Given the description of an element on the screen output the (x, y) to click on. 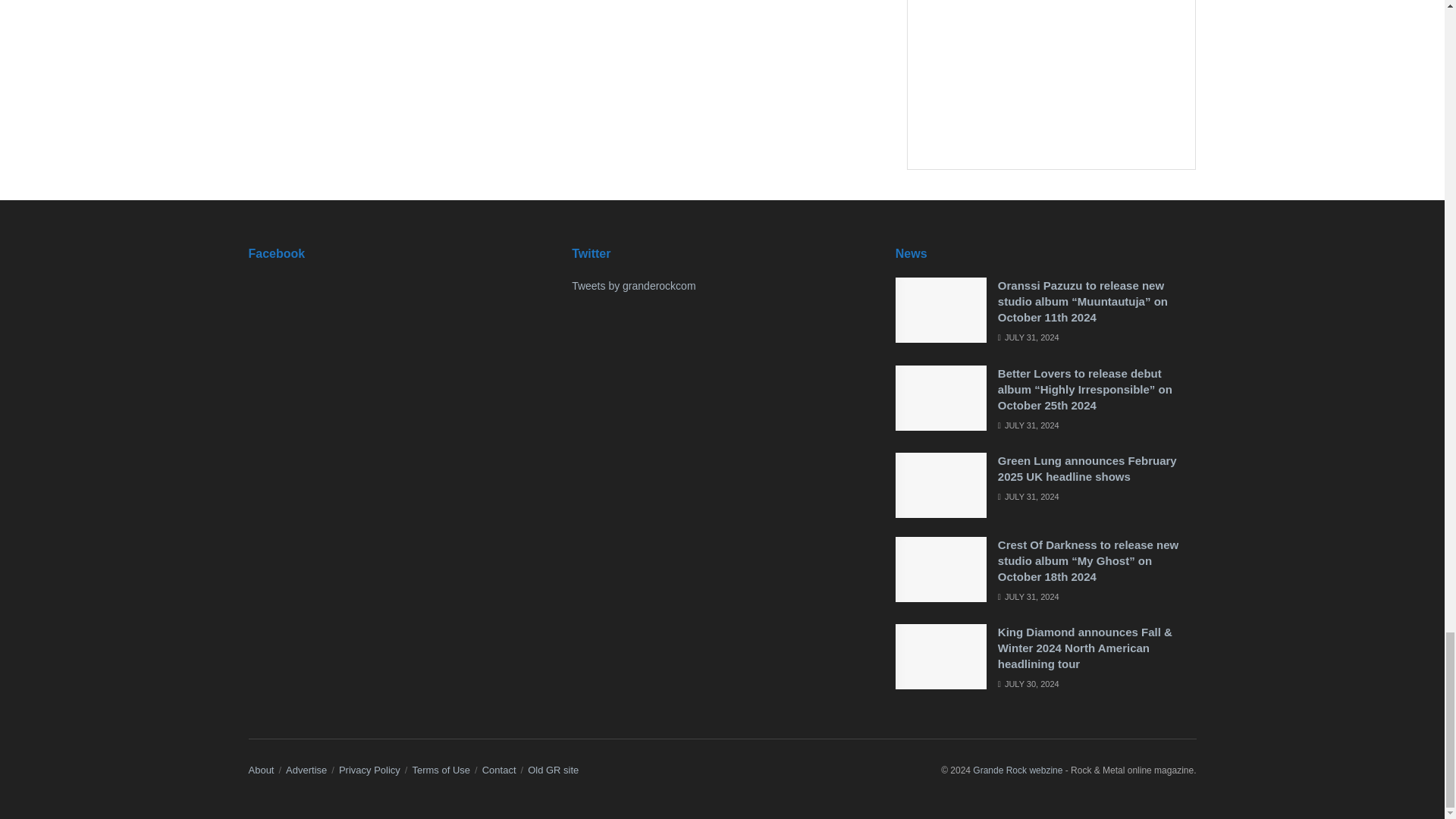
Grande Rock webzine (1017, 769)
